Given the description of an element on the screen output the (x, y) to click on. 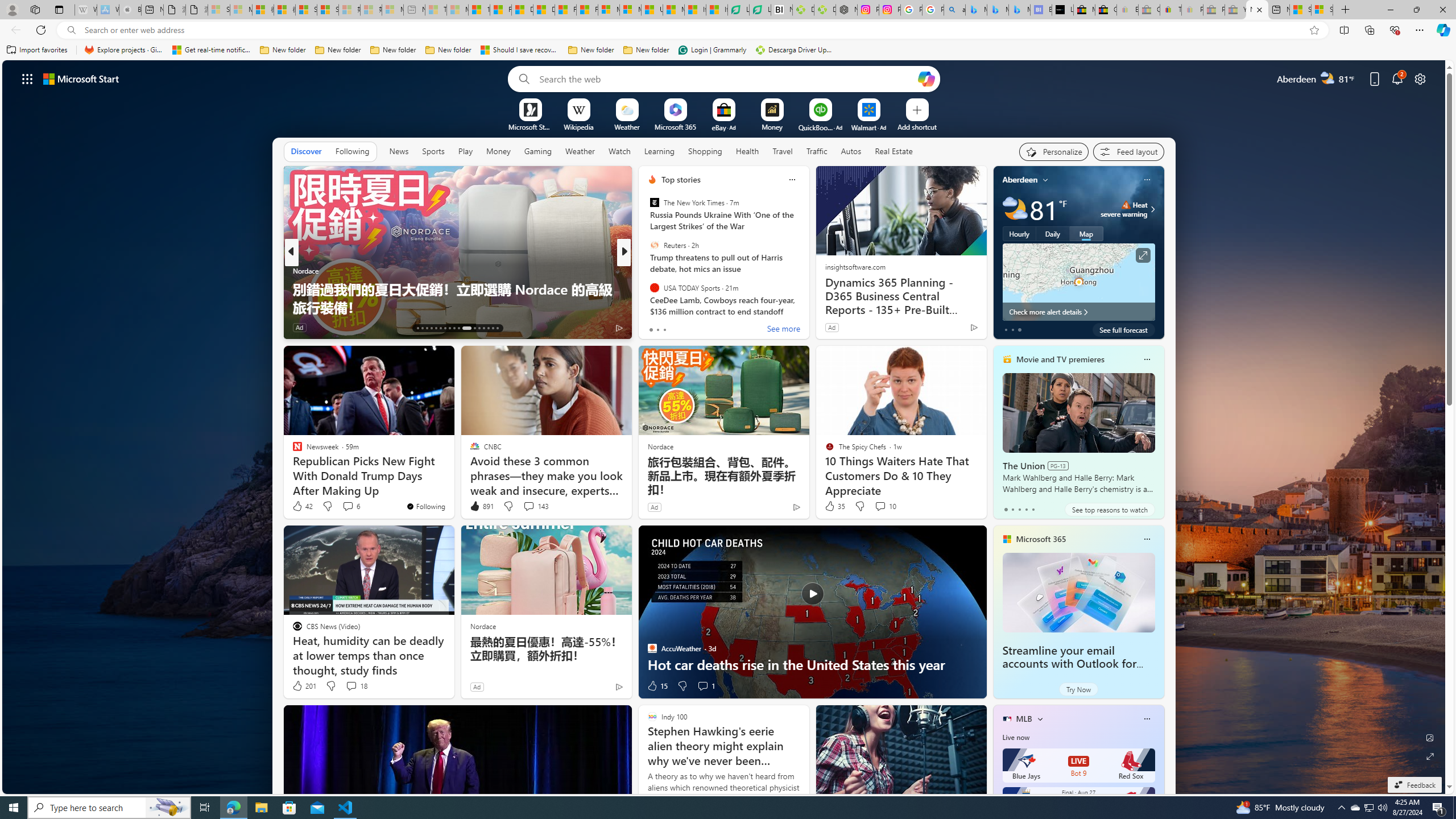
35 Like (834, 505)
Shanghai, China hourly forecast | Microsoft Weather (1300, 9)
AutomationID: tab-19 (444, 328)
tab-4 (1032, 509)
891 Like (480, 505)
Autos (851, 151)
See top reasons to watch (1109, 509)
View comments 460 Comment (703, 327)
IT Concept (658, 288)
View comments 1 Comment (705, 685)
Nvidia va a poner a prueba la paciencia de los inversores (781, 9)
USA TODAY Sports (654, 287)
